Given the description of an element on the screen output the (x, y) to click on. 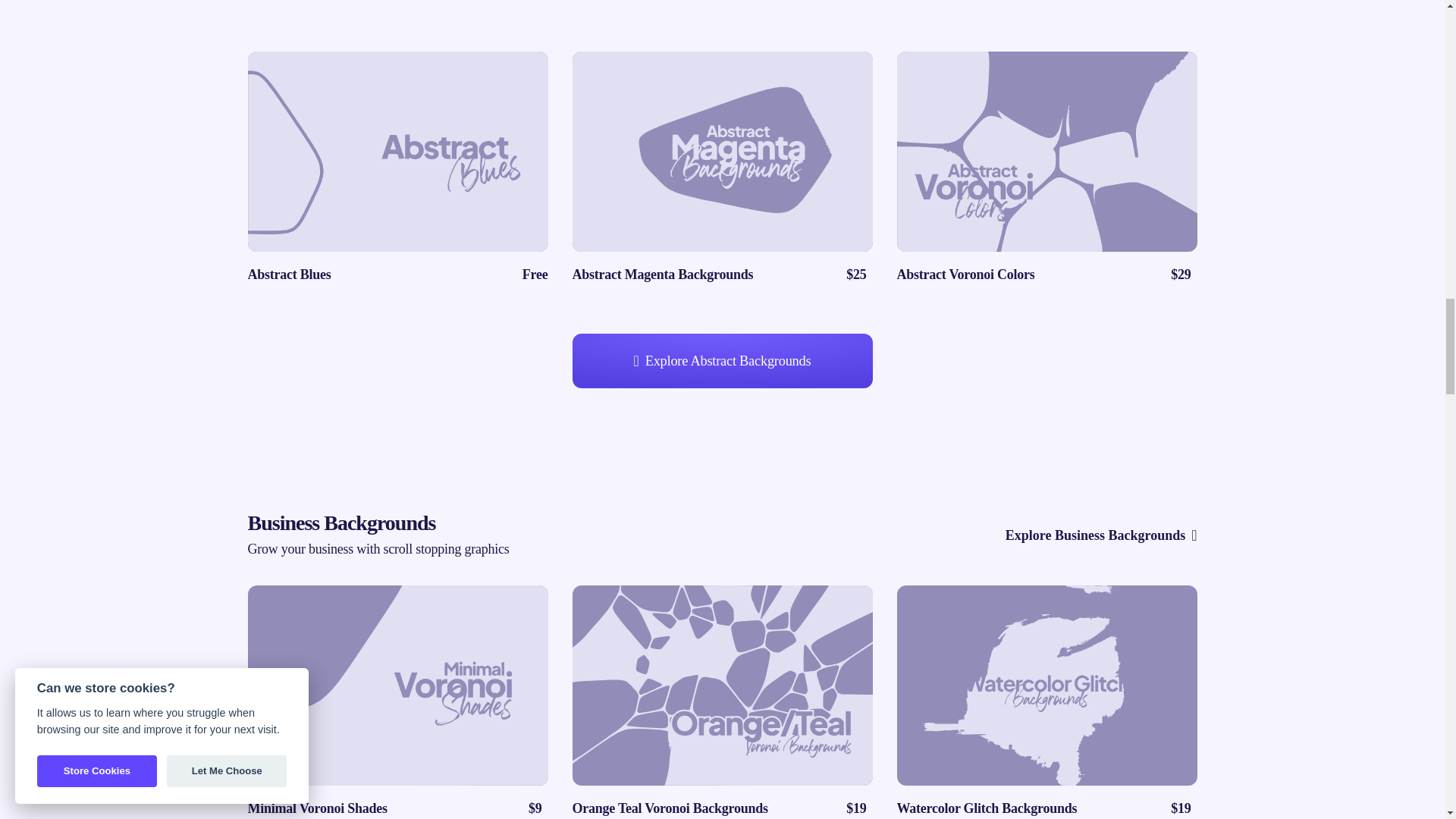
Explore Business Backgrounds (397, 168)
Explore Abstract Backgrounds (1101, 535)
